Given the description of an element on the screen output the (x, y) to click on. 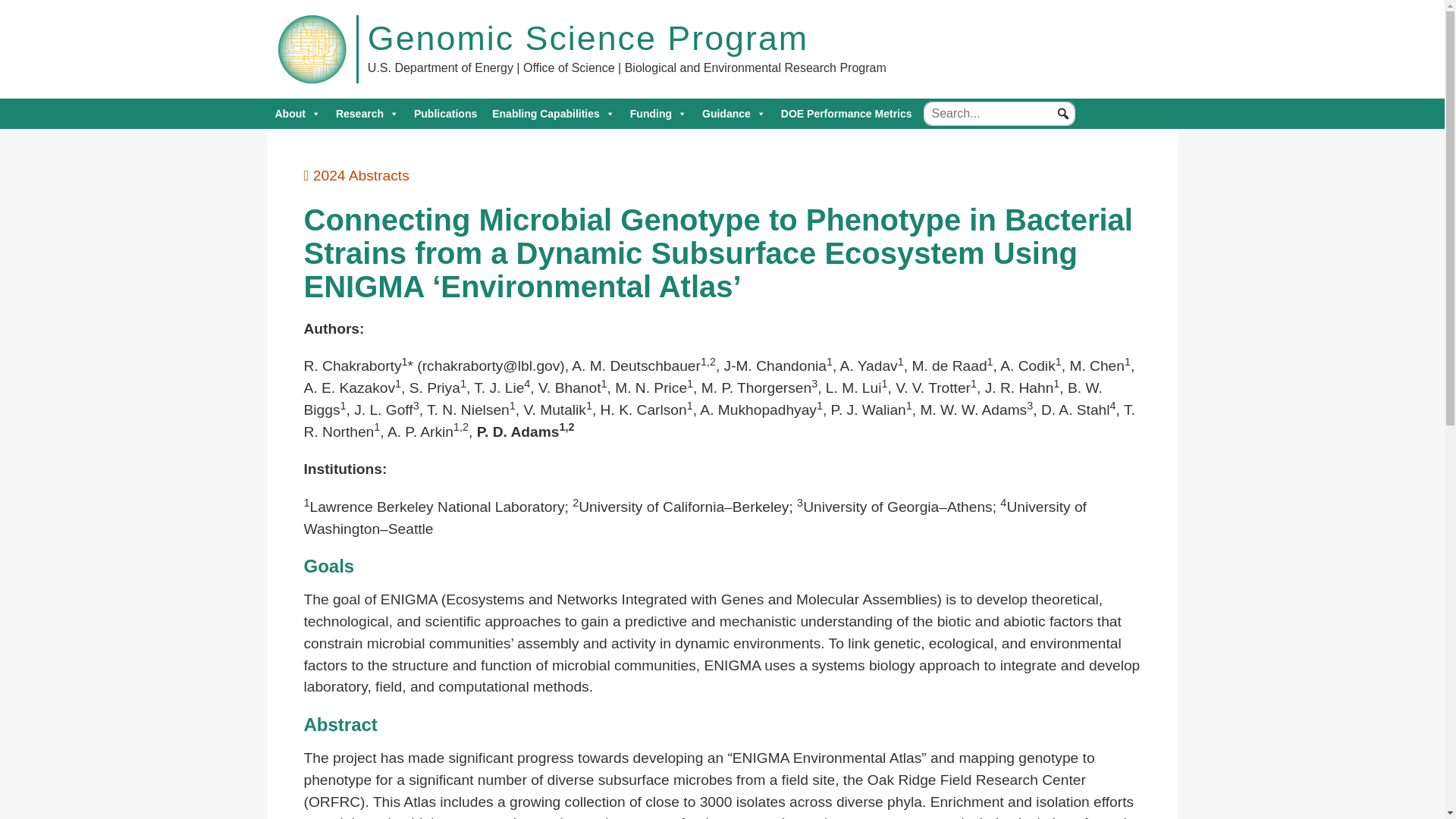
Research (367, 113)
About (296, 113)
